Given the description of an element on the screen output the (x, y) to click on. 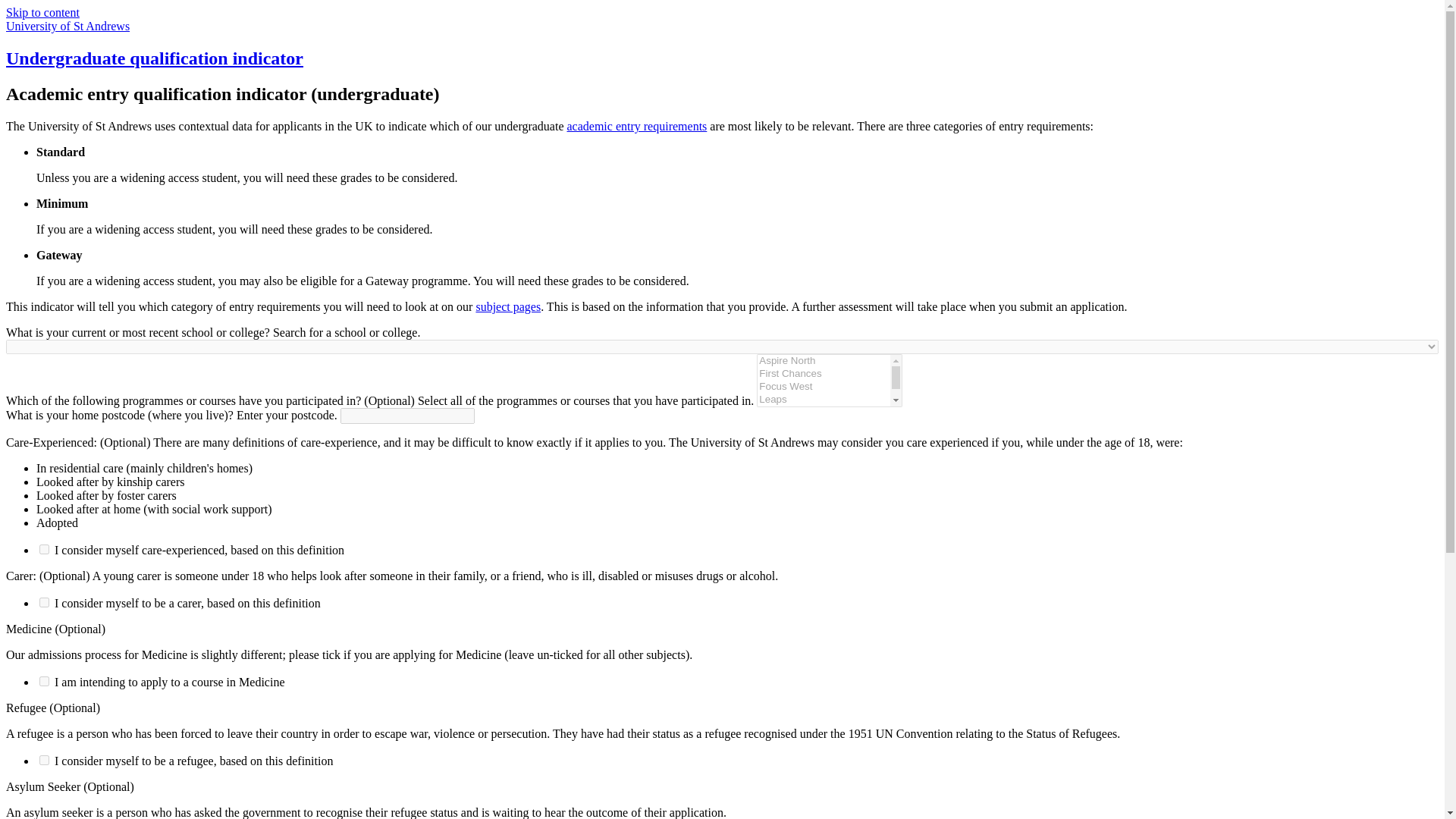
Skip to content (42, 11)
subject pages (508, 306)
default (44, 759)
default (44, 681)
University of St Andrews (67, 25)
default (44, 549)
academic entry requirements (637, 125)
default (44, 602)
Undergraduate qualification indicator (153, 57)
